Given the description of an element on the screen output the (x, y) to click on. 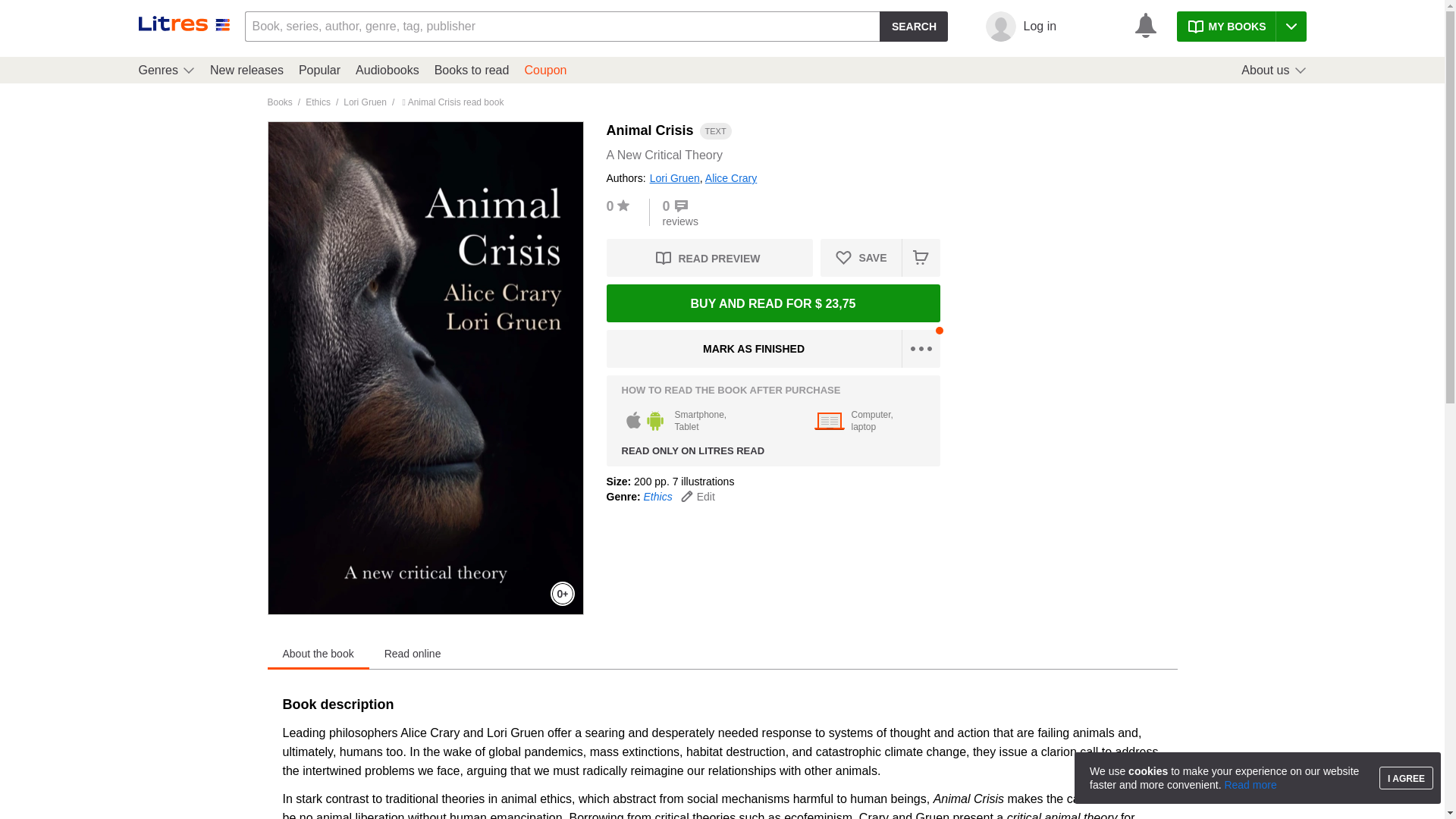
Lori Gruen (365, 102)
Alice Crary (730, 177)
Audiobooks (868, 420)
READ PREVIEW (387, 69)
Lori Gruen (710, 257)
Genres (674, 177)
New releases (165, 69)
Coupon (246, 69)
Books to read (545, 69)
Ethics (471, 69)
Books (657, 496)
Read preview (279, 102)
Edit (710, 257)
